Given the description of an element on the screen output the (x, y) to click on. 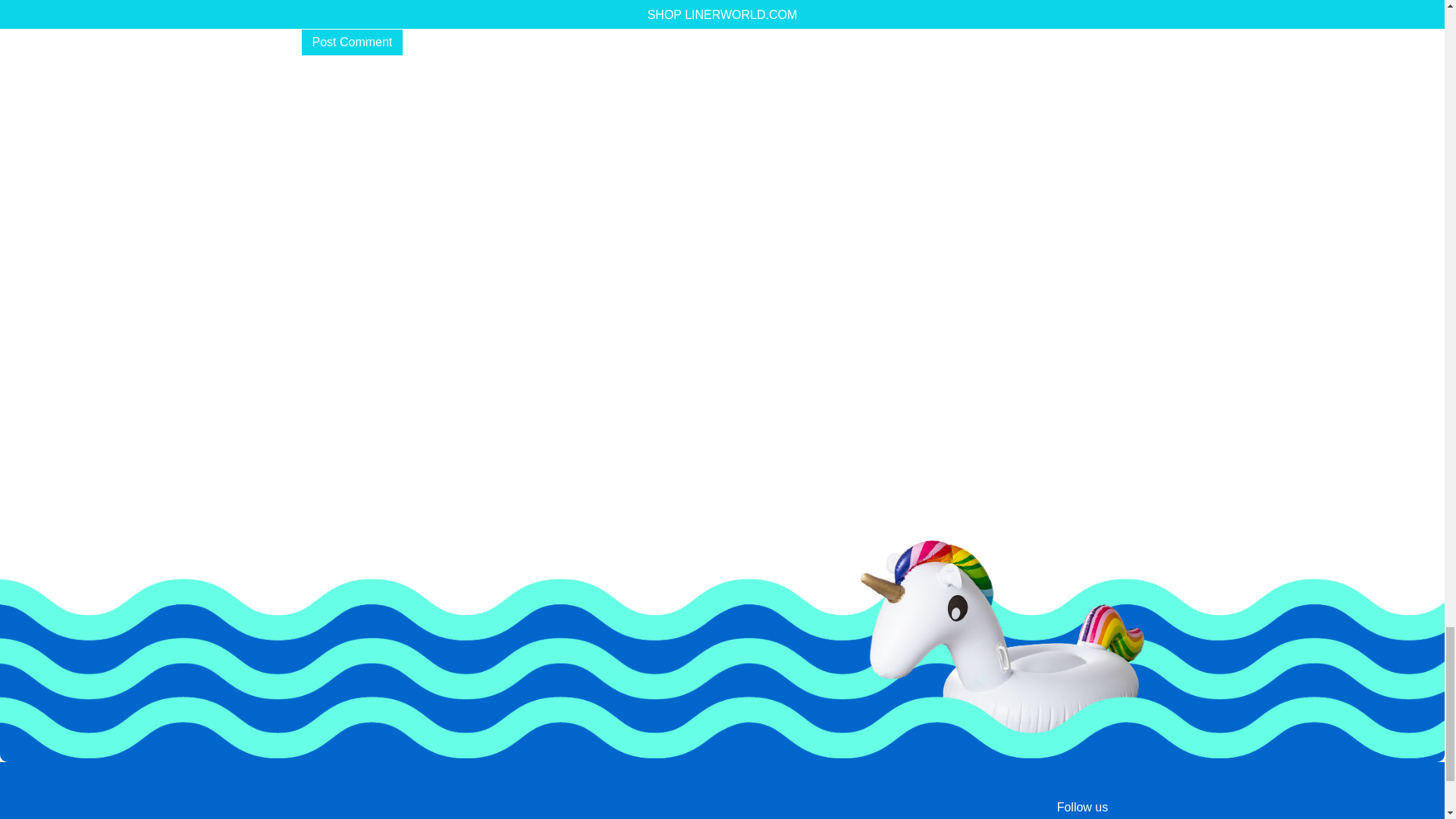
Post Comment (352, 42)
Post Comment (352, 42)
